Given the description of an element on the screen output the (x, y) to click on. 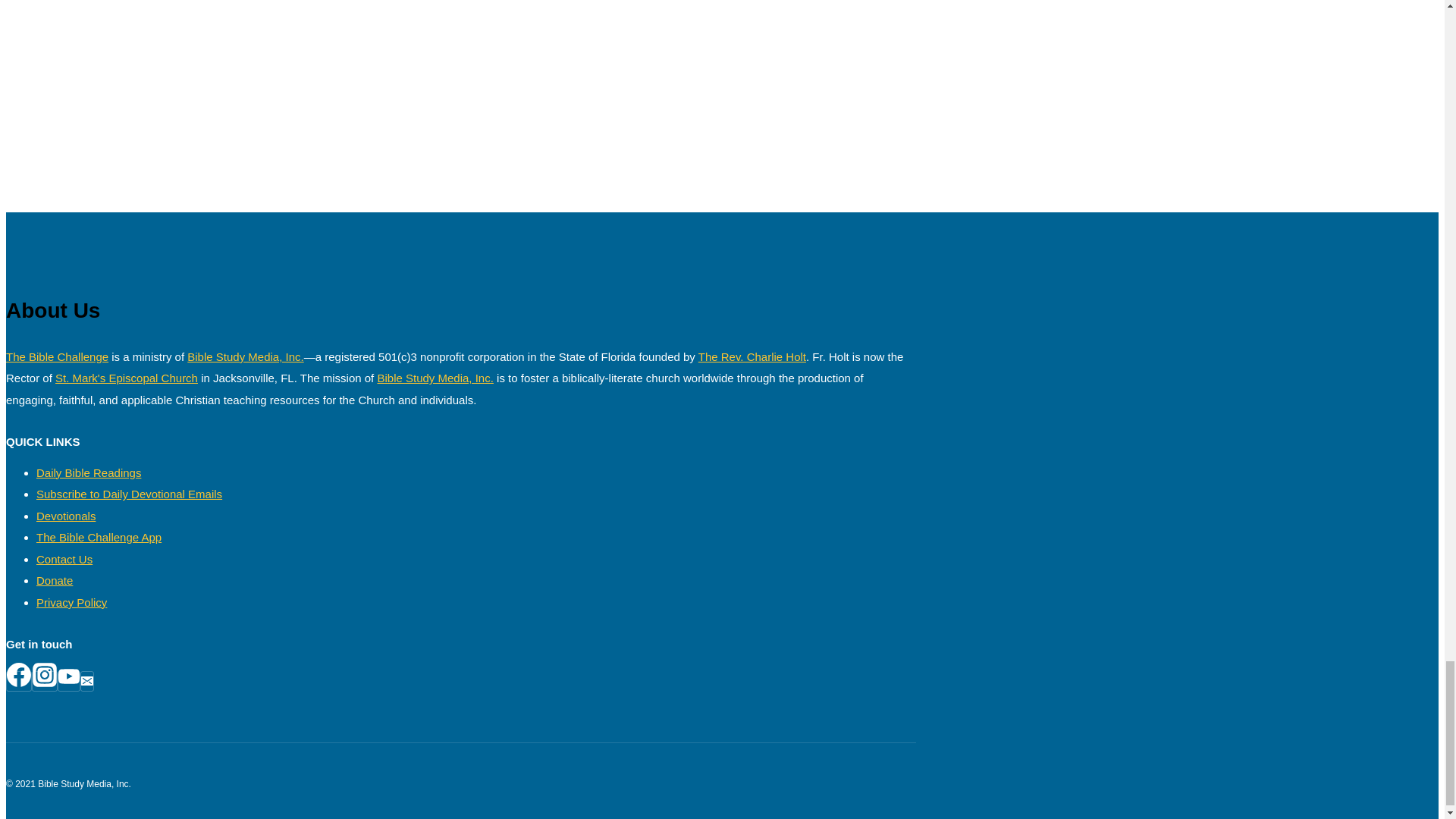
The Bible Challenge (56, 356)
Facebook (18, 674)
Bible Study Media, Inc. (244, 356)
YouTube (69, 676)
Email (87, 680)
Instagram (44, 674)
